Given the description of an element on the screen output the (x, y) to click on. 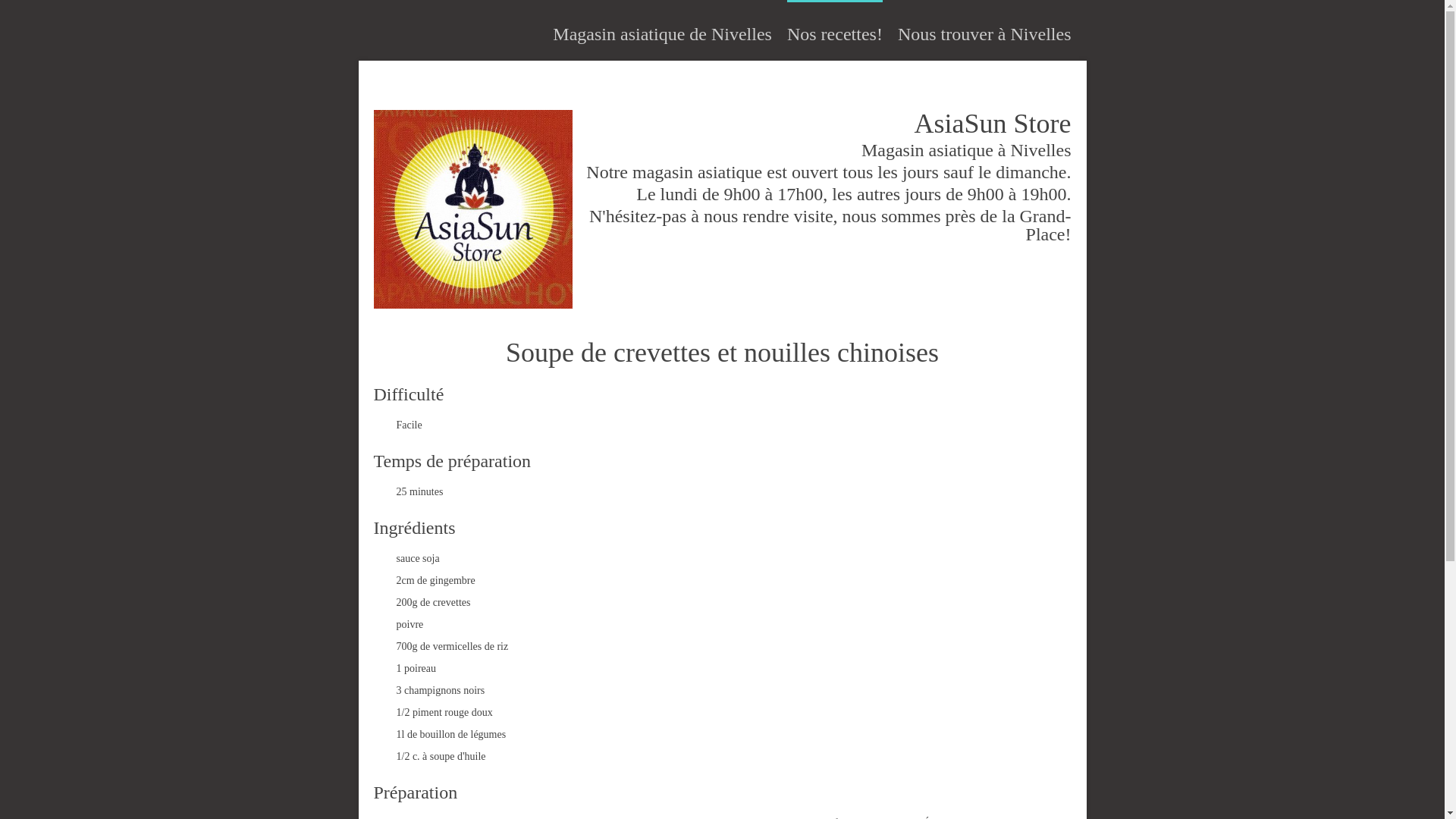
Magasin asiatique de Nivelles Element type: text (661, 33)
